Given the description of an element on the screen output the (x, y) to click on. 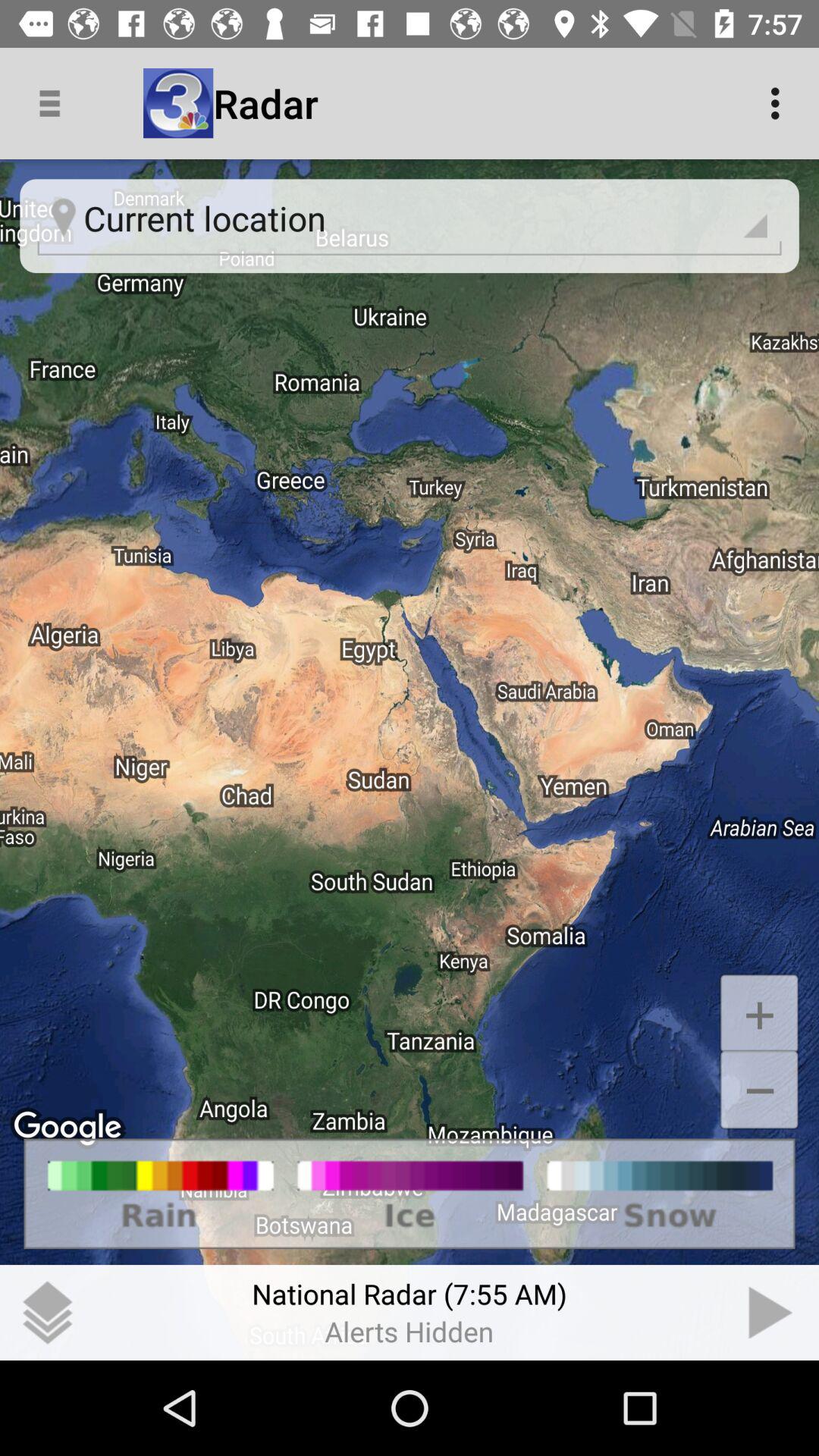
turn off item to the right of radar (779, 103)
